Given the description of an element on the screen output the (x, y) to click on. 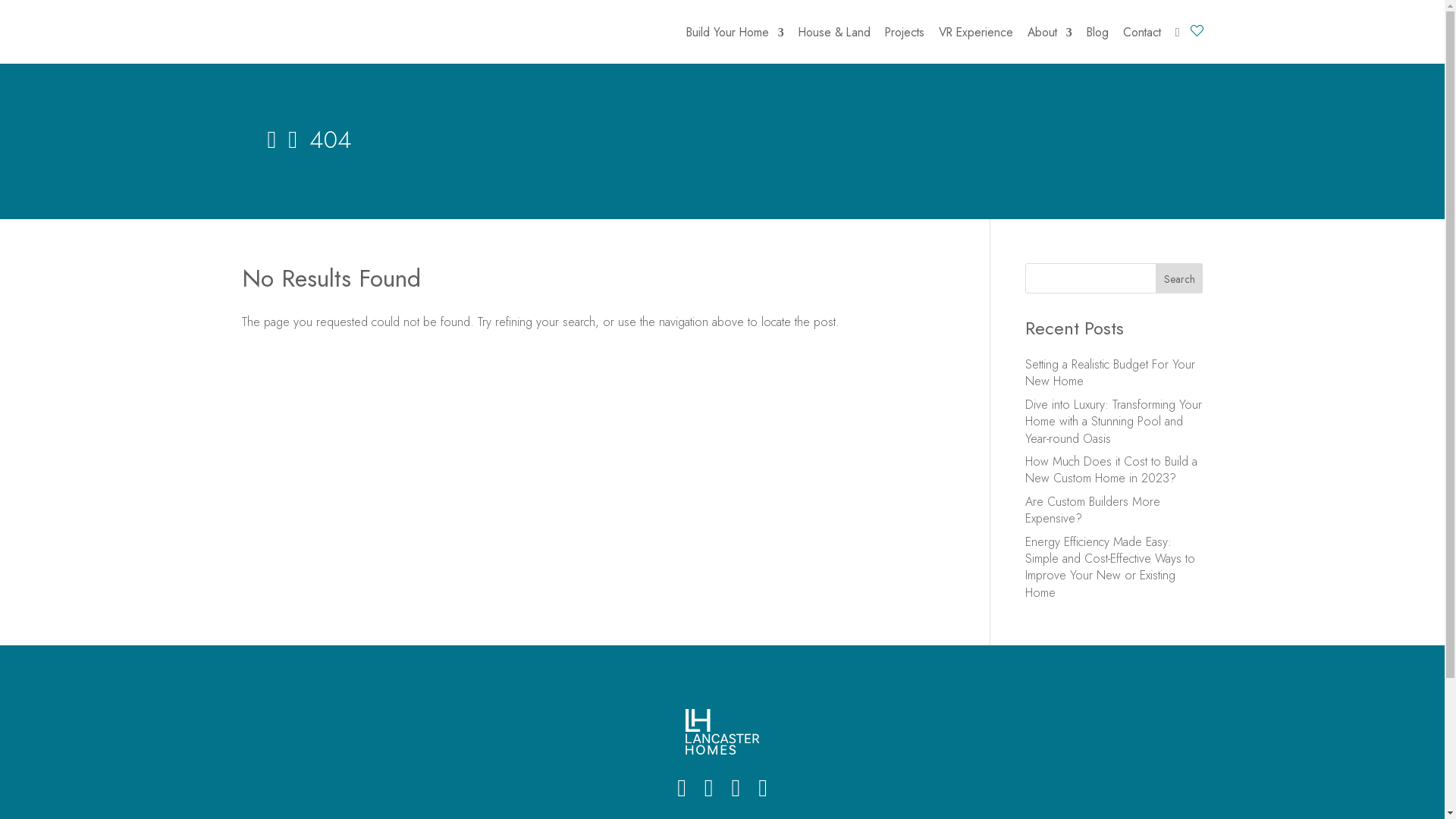
How Much Does it Cost to Build a New Custom Home in 2023? Element type: text (1111, 469)
Setting a Realistic Budget For Your New Home Element type: text (1110, 372)
Go to Lancaster Homes. Element type: hover (271, 139)
House & Land Element type: text (834, 44)
Are Custom Builders More Expensive? Element type: text (1092, 509)
Contact Element type: text (1142, 44)
VR Experience Element type: text (975, 44)
Blog Element type: text (1097, 44)
Search Element type: text (1179, 278)
Build Your Home Element type: text (735, 44)
About Element type: text (1049, 44)
Projects Element type: text (904, 44)
